Given the description of an element on the screen output the (x, y) to click on. 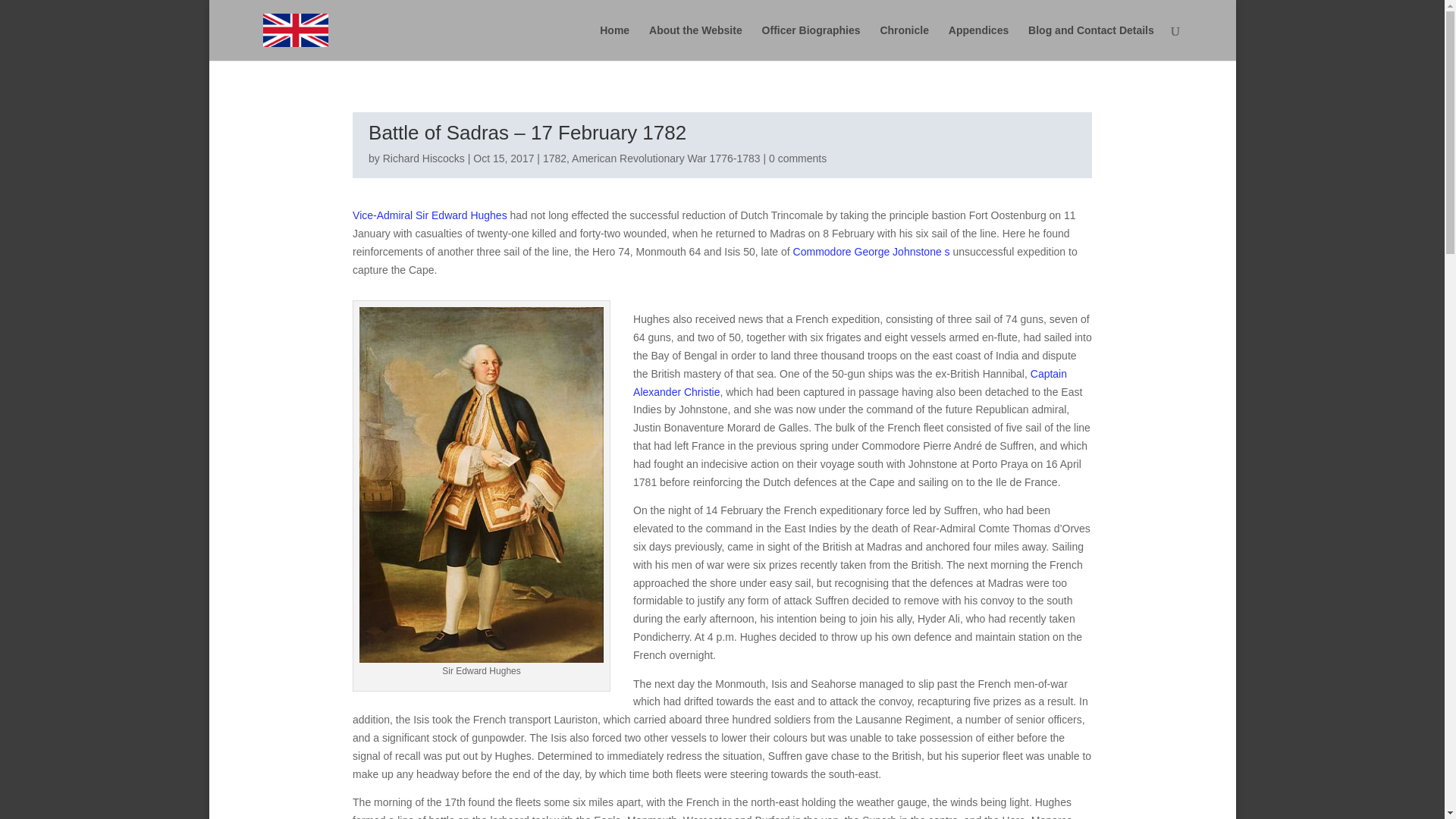
American Revolutionary War 1776-1783 (666, 158)
Commodore George Johnstone s (871, 251)
Home (613, 42)
Officer Biographies (810, 42)
Blog and Contact Details (1090, 42)
Richard Hiscocks (423, 158)
1782 (554, 158)
Posts by Richard Hiscocks (423, 158)
0 comments (797, 158)
Vice-Admiral Sir Edward Hughes (429, 215)
Appendices (979, 42)
Chronicle (903, 42)
About the Website (695, 42)
Captain Alexander Christie (850, 382)
